Given the description of an element on the screen output the (x, y) to click on. 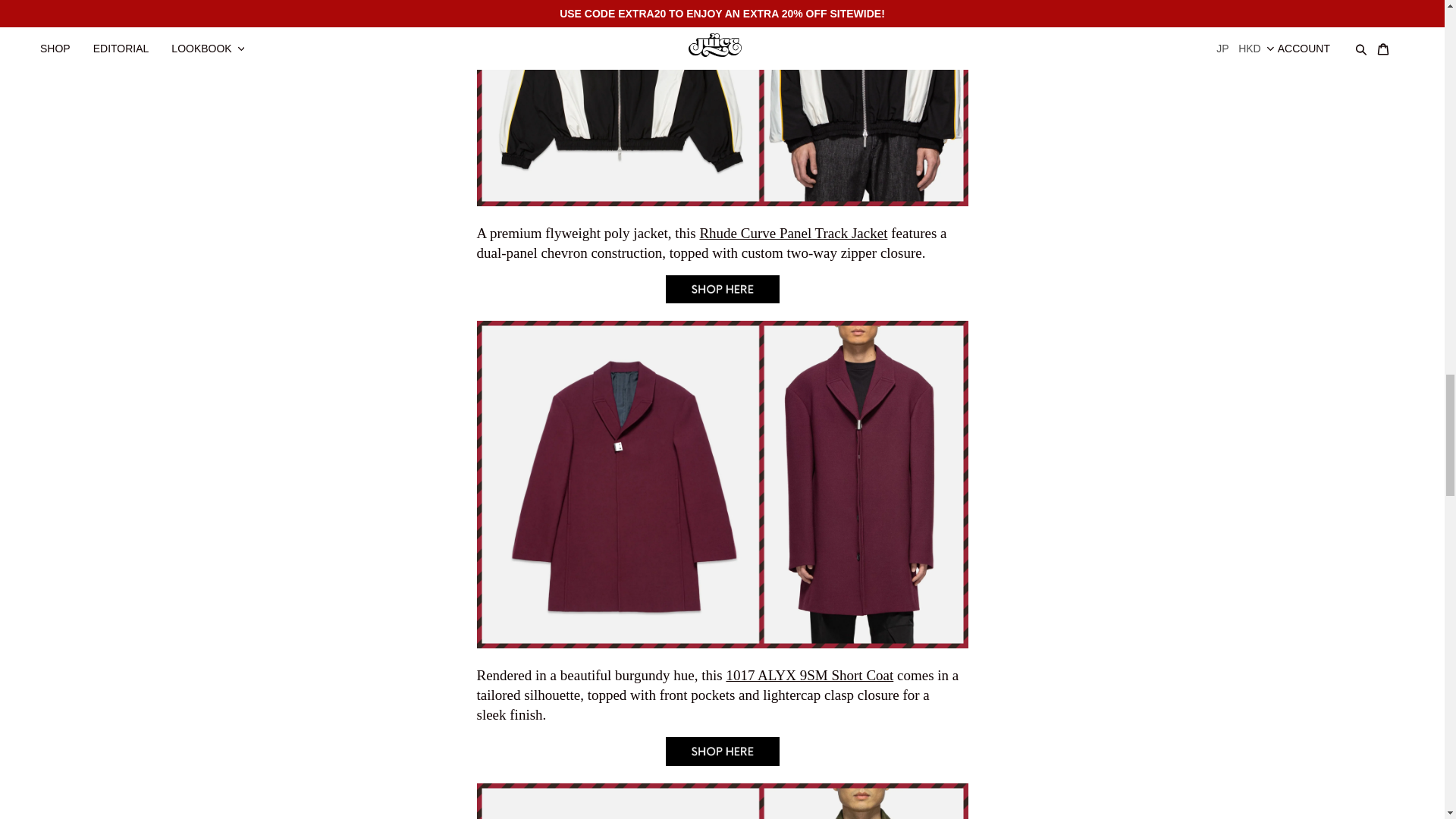
Rhude Curve Panel Track Jacket (721, 298)
JUICE Holiday Gift Guide - 1017 ALYX 9SM Short Coat (809, 675)
Rhude Curve Panel Track Jacket (792, 232)
1017 ALYX 9SM Short Coat (721, 760)
